Given the description of an element on the screen output the (x, y) to click on. 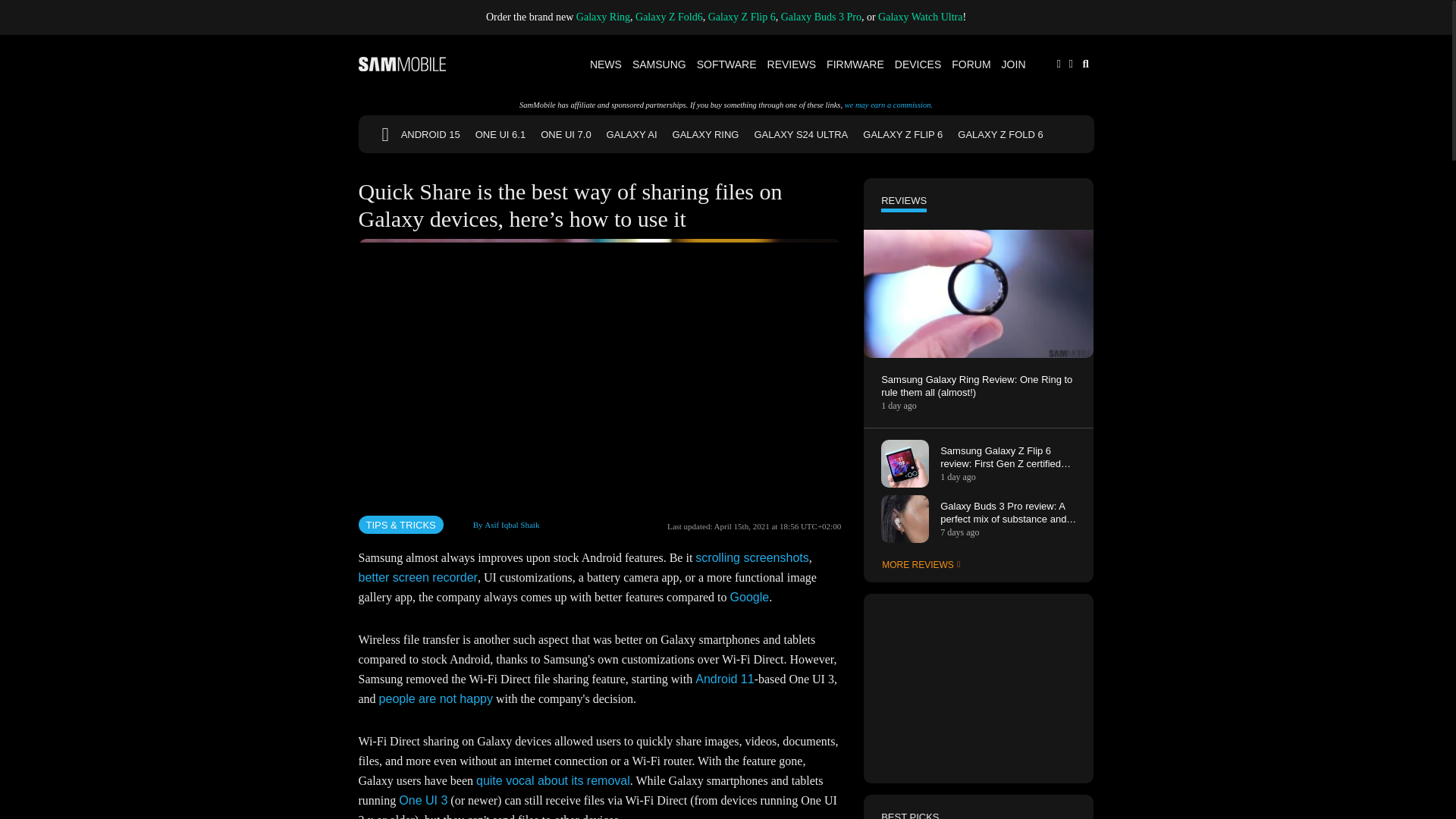
Galaxy Z Flip 6 (741, 16)
Galaxy Buds 3 Pro (820, 16)
SamMobile logo (401, 63)
Galaxy Z Fold6 (668, 16)
SAMSUNG (659, 64)
Samsung (659, 64)
Galaxy Ring (603, 16)
Galaxy Watch Ultra (919, 16)
